Given the description of an element on the screen output the (x, y) to click on. 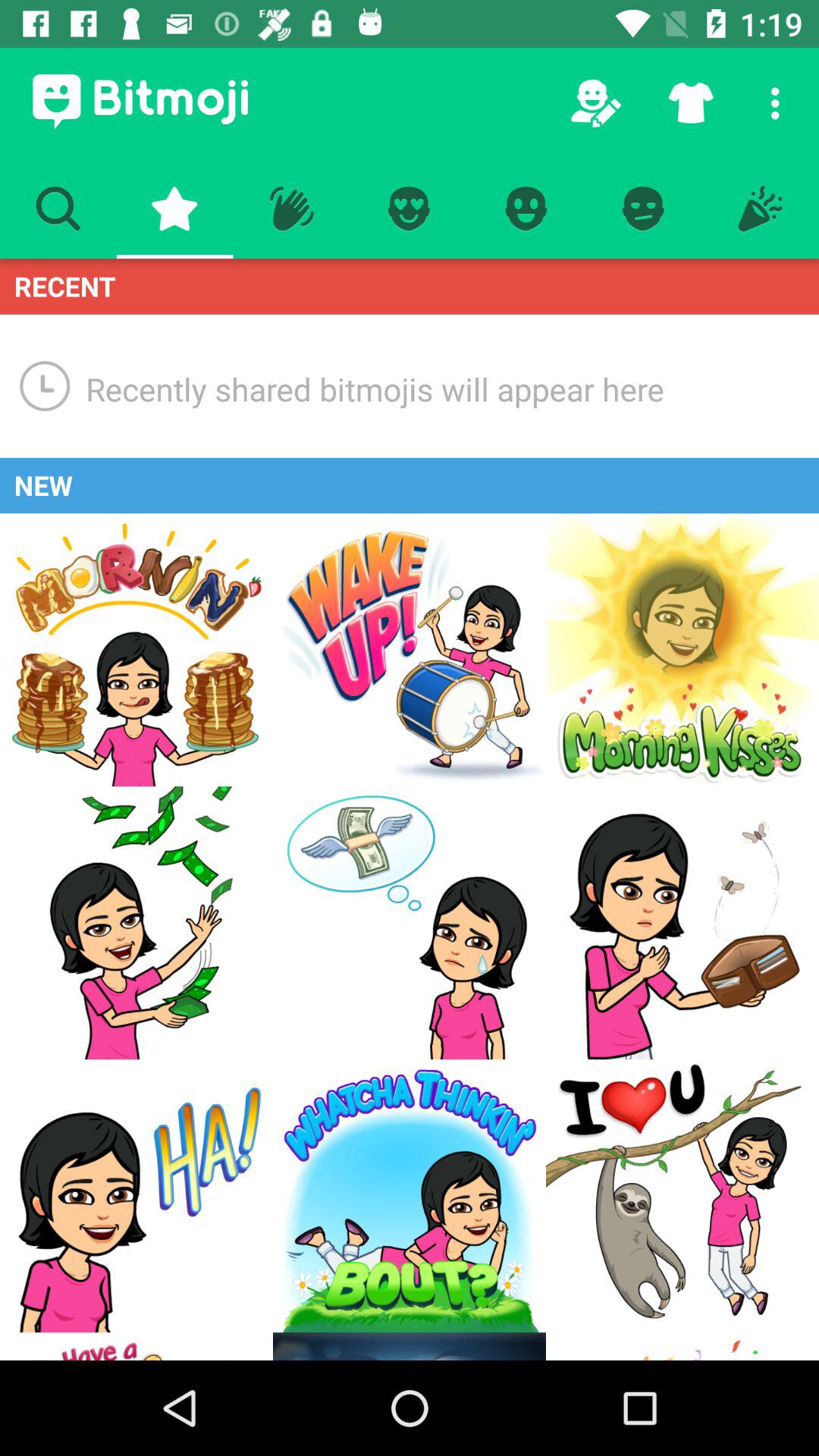
wake up bitmoji (409, 649)
